Given the description of an element on the screen output the (x, y) to click on. 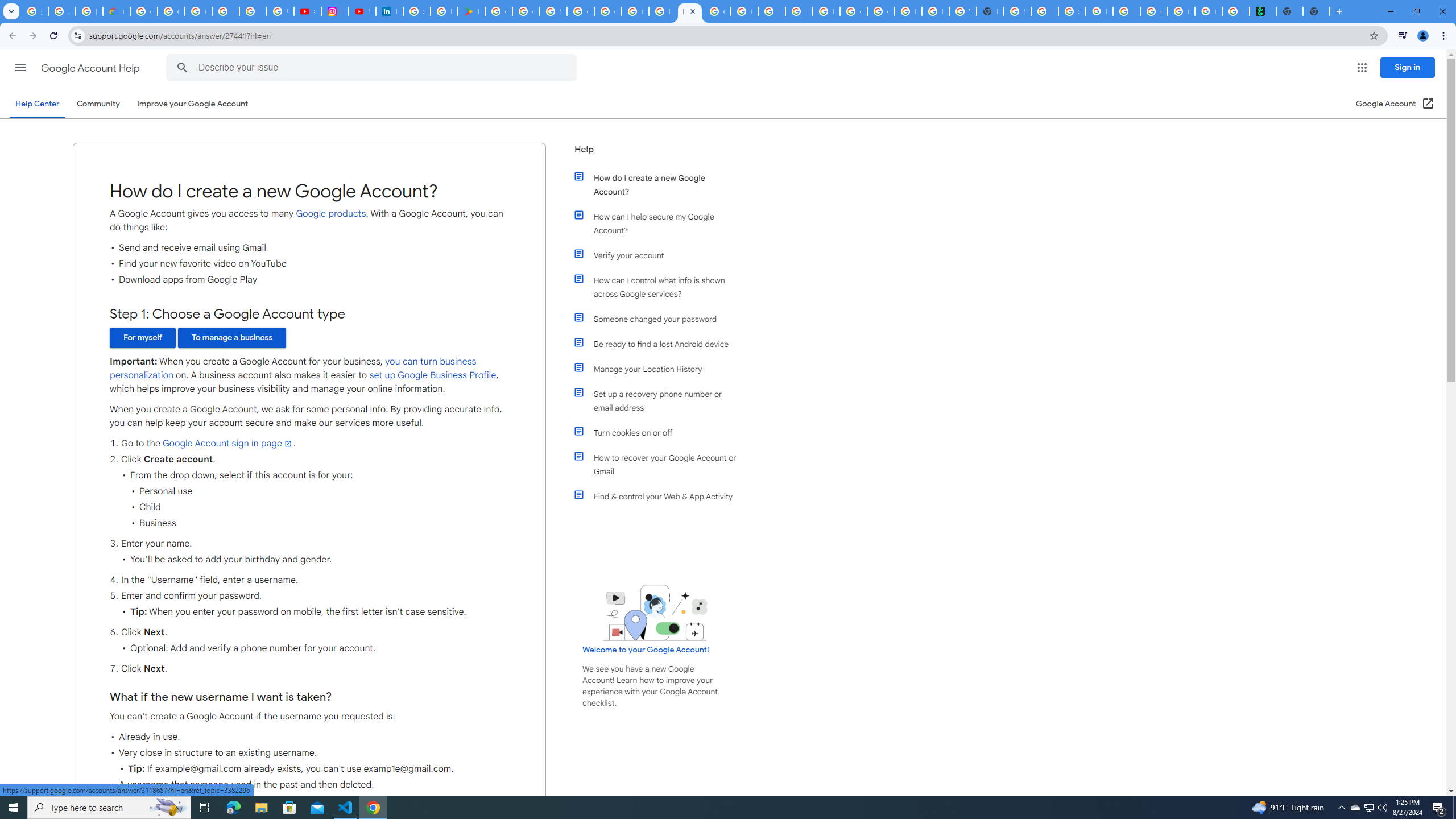
Be ready to find a lost Android device (661, 343)
Browse Chrome as a guest - Computer - Google Chrome Help (799, 11)
Improve your Google Account (192, 103)
How can I help secure my Google Account? (661, 223)
For myself (142, 337)
Main menu (20, 67)
Welcome to your Google Account! (645, 649)
Browse Chrome as a guest - Computer - Google Chrome Help (771, 11)
